Given the description of an element on the screen output the (x, y) to click on. 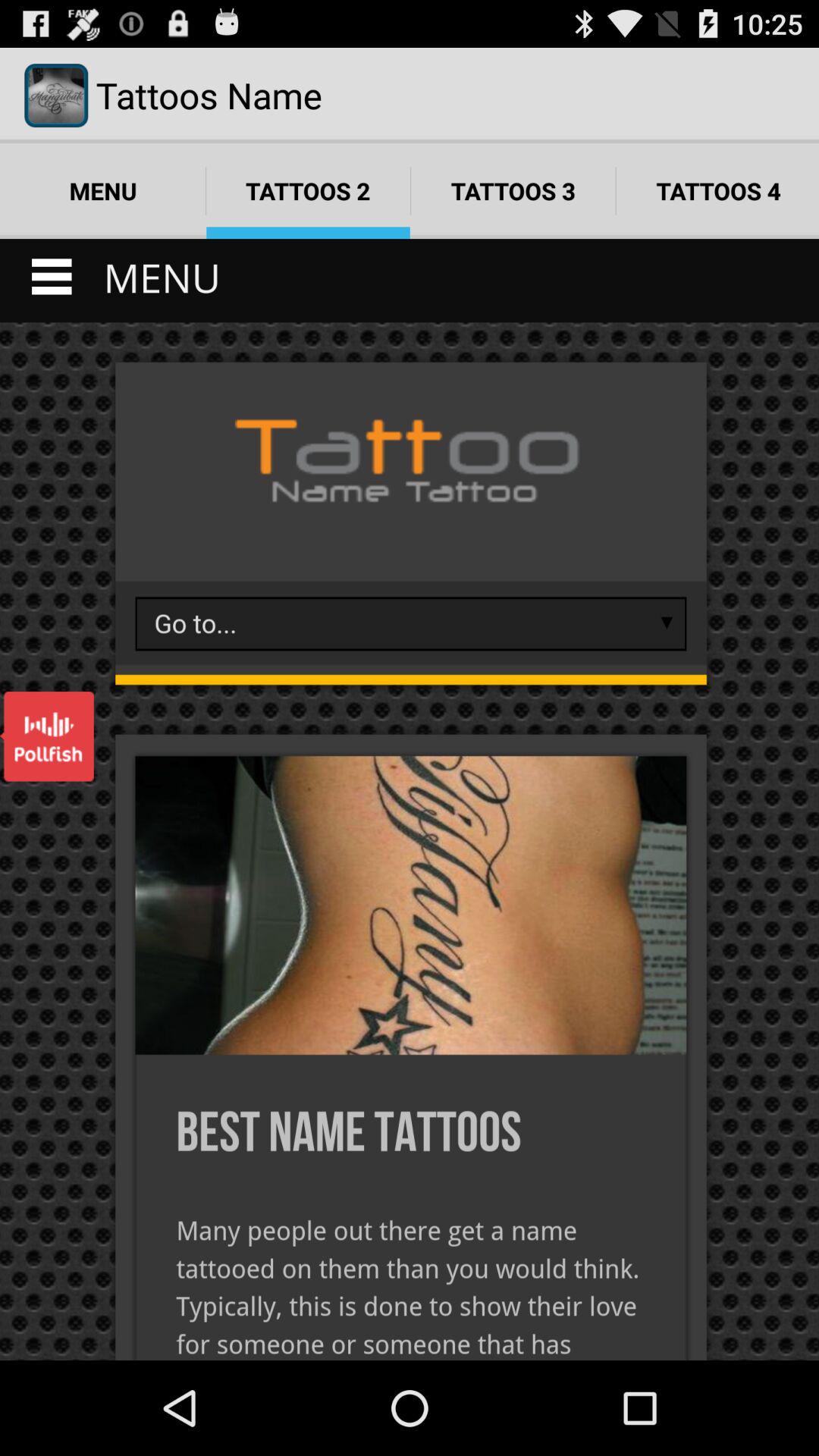
pollfish button (46, 736)
